Given the description of an element on the screen output the (x, y) to click on. 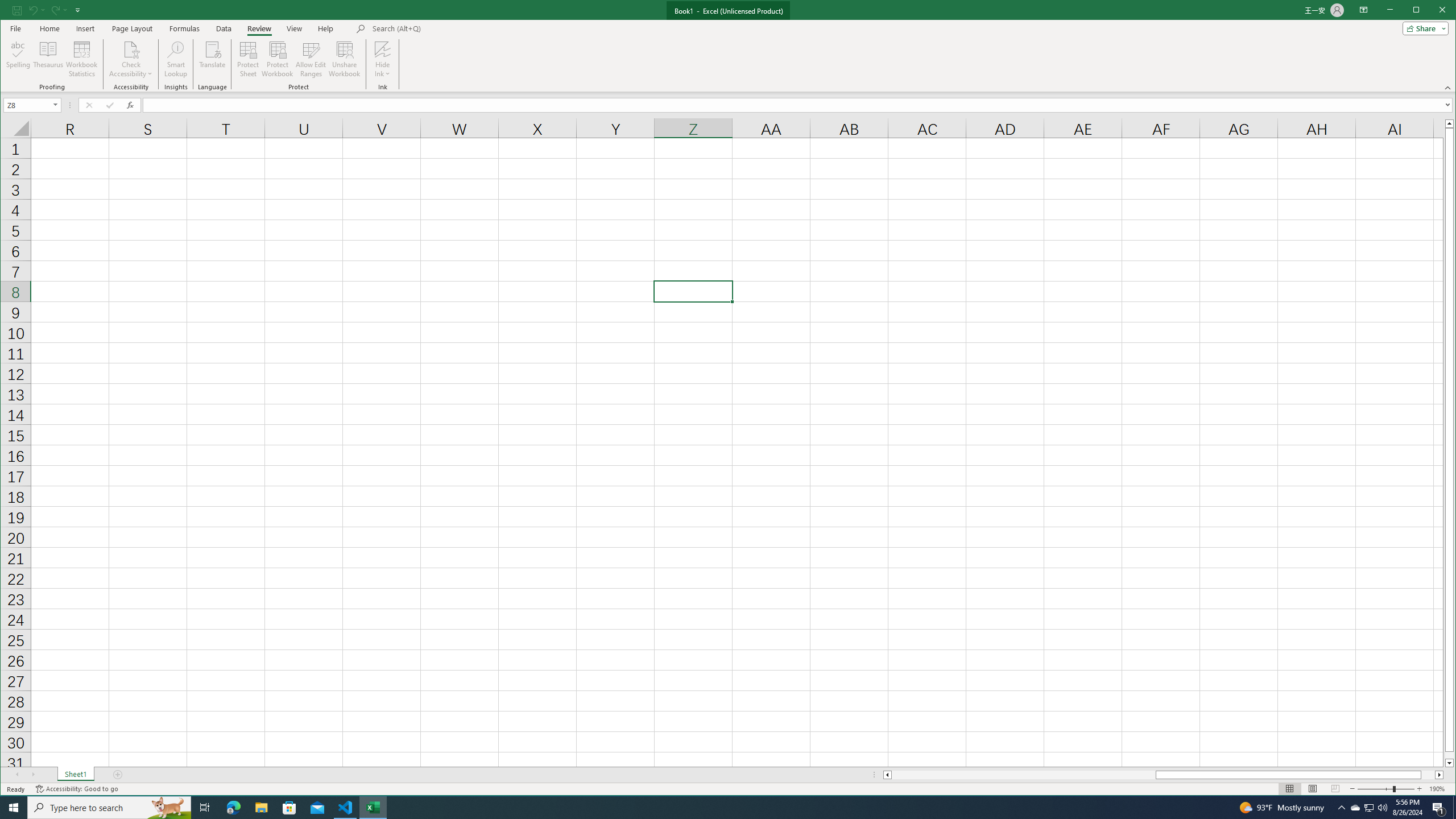
Excel - 1 running window (373, 807)
Task View (204, 807)
Notification Chevron (1355, 807)
